Given the description of an element on the screen output the (x, y) to click on. 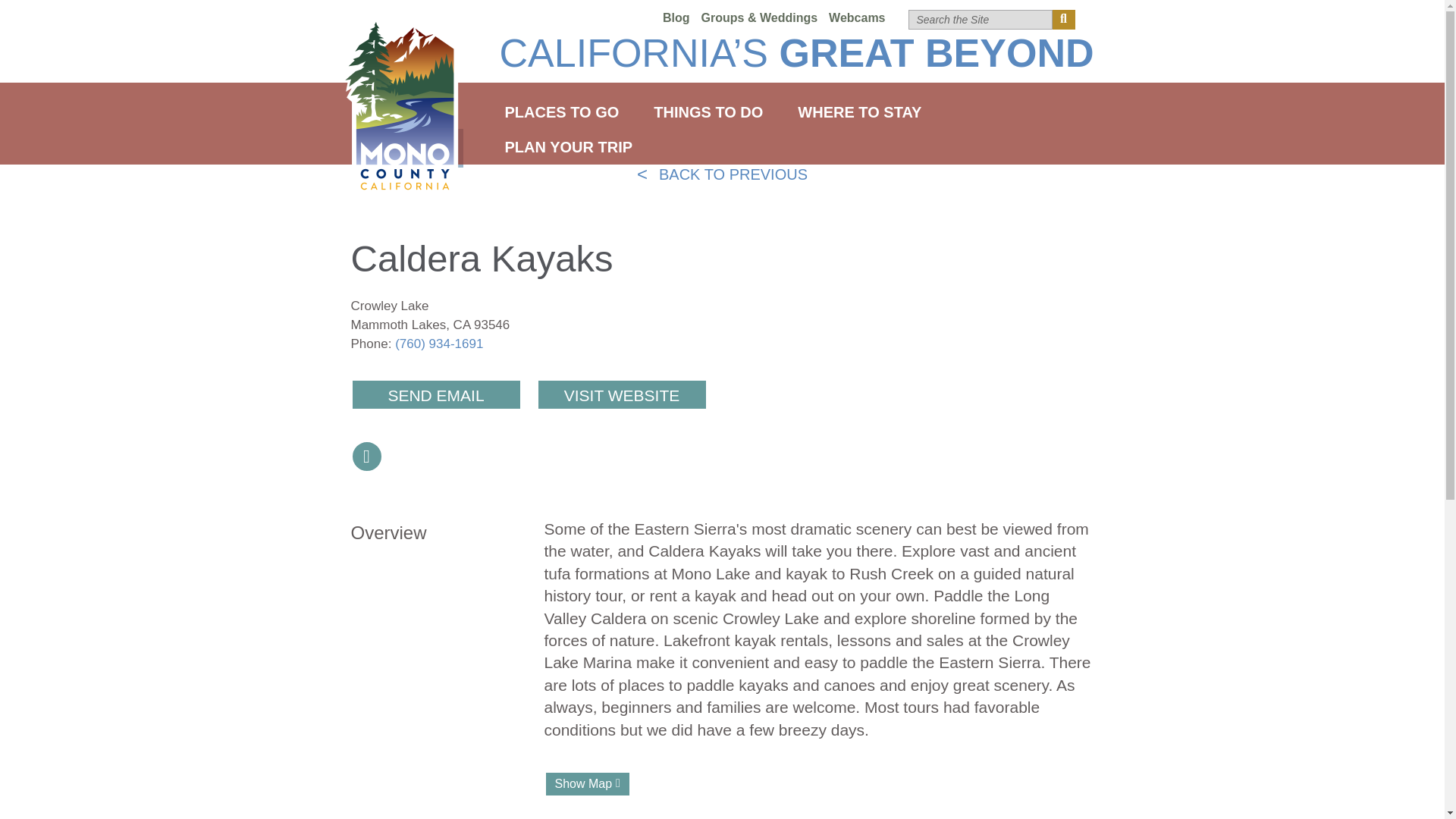
Webcams (856, 17)
Webcams (856, 17)
Blog (676, 17)
PLACES TO GO (561, 112)
Blog (676, 17)
